Given the description of an element on the screen output the (x, y) to click on. 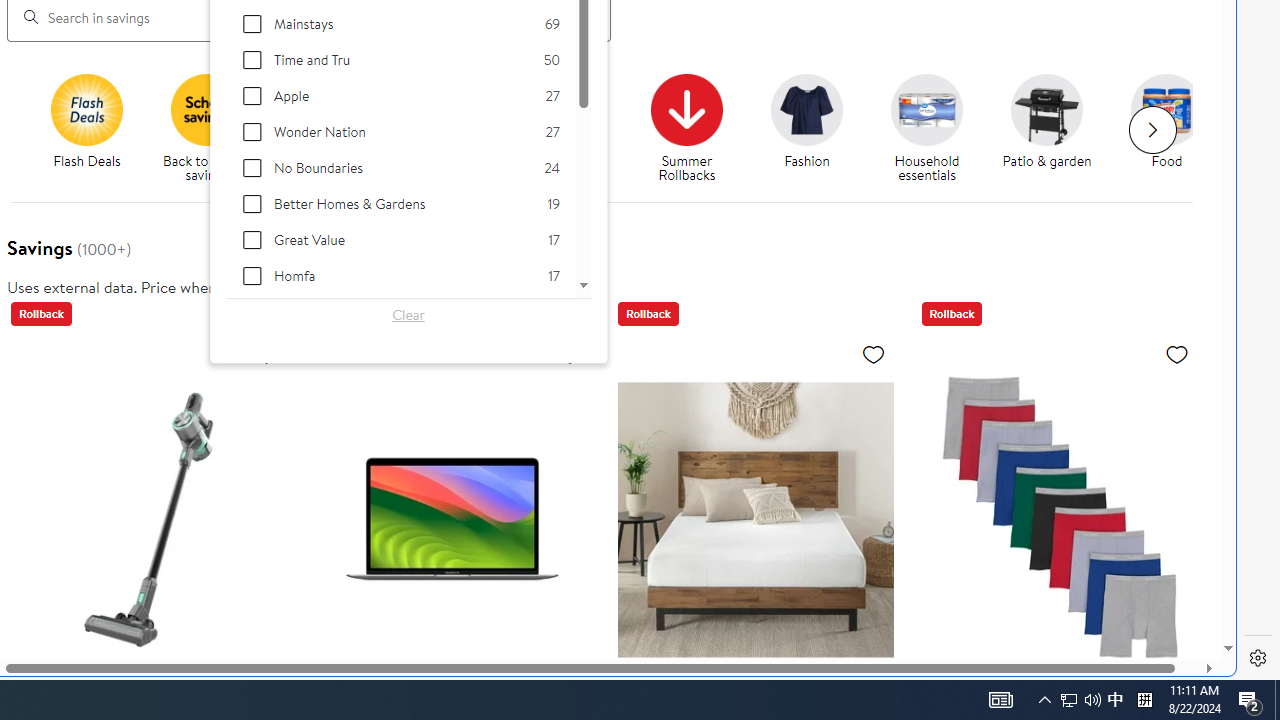
$20 and under (446, 109)
$20 and under $20 & under (447, 122)
Back to School savings (207, 109)
Household essentials (934, 128)
Zinus Spa Sensations Serenity 8" Memory Foam Mattress, Full (755, 519)
Fashion (815, 128)
Patio & garden (1054, 128)
Summer Rollbacks Summer Rollbacks (686, 128)
Next slide for chipModuleWithImages list (1152, 129)
Patio & garden (1046, 109)
Back to School savings Back to school savings (206, 128)
Household essentials Household essentials (927, 128)
Back to college savings (335, 128)
Food (1167, 109)
